Given the description of an element on the screen output the (x, y) to click on. 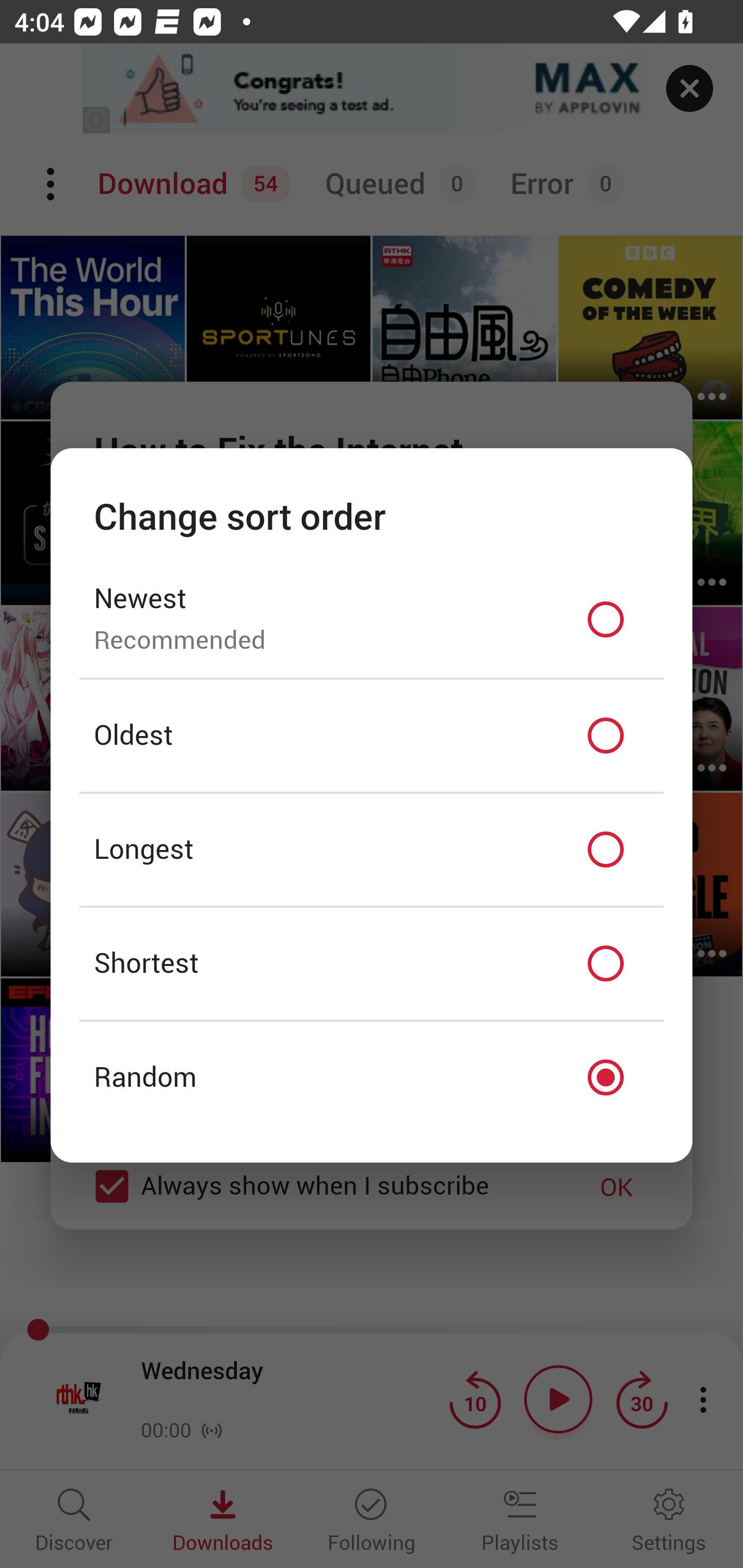
Newest Recommended (371, 619)
Oldest (371, 735)
Longest (371, 849)
Shortest (371, 963)
Random (371, 1077)
